Given the description of an element on the screen output the (x, y) to click on. 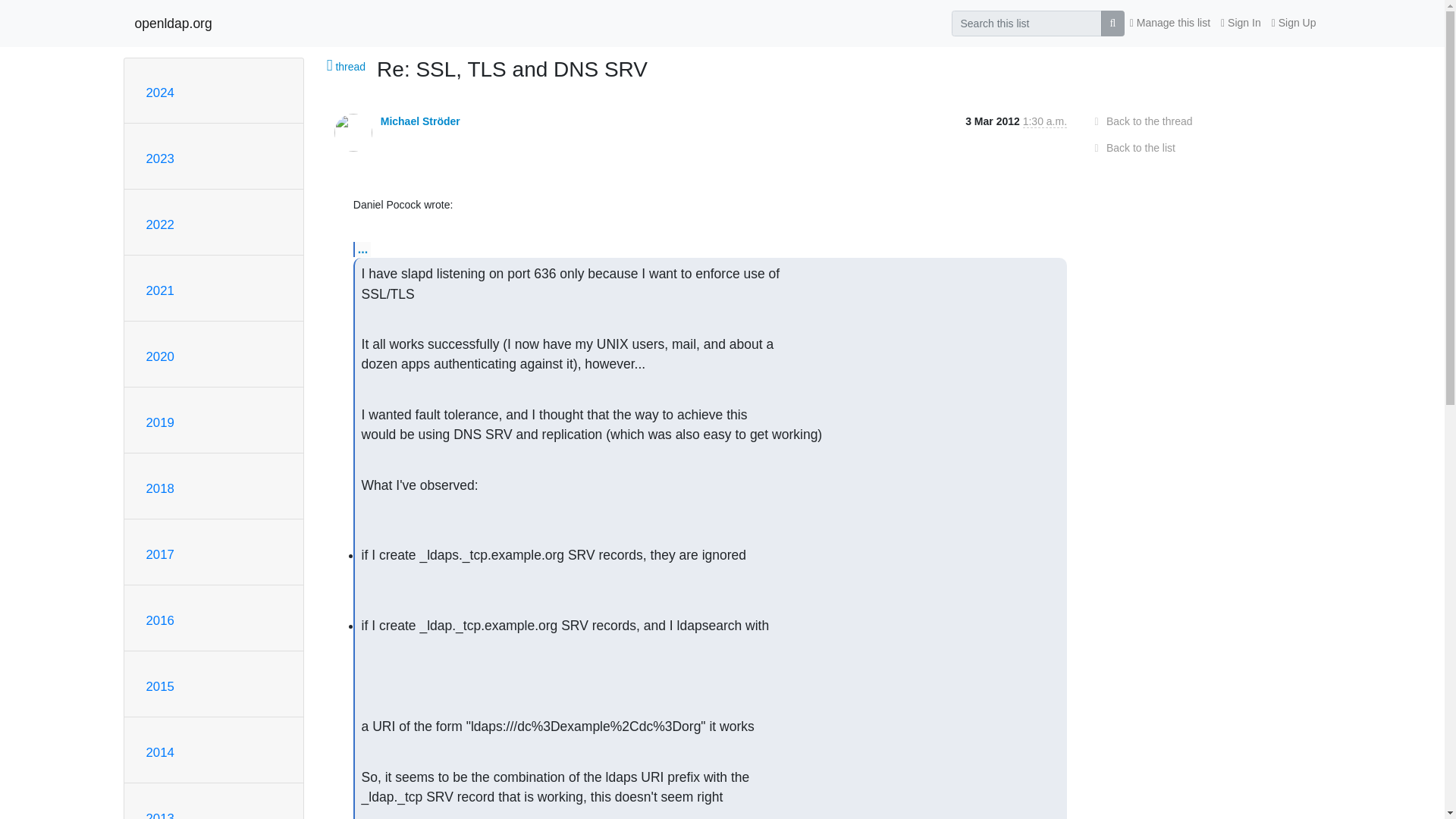
Manage this list (1169, 22)
Sender's time: March 3, 2012, 10:30 a.m. (1045, 121)
2024 (159, 92)
2022 (159, 224)
openldap.org (173, 22)
Sign Up (1294, 22)
Sign In (1240, 22)
2023 (159, 158)
